Given the description of an element on the screen output the (x, y) to click on. 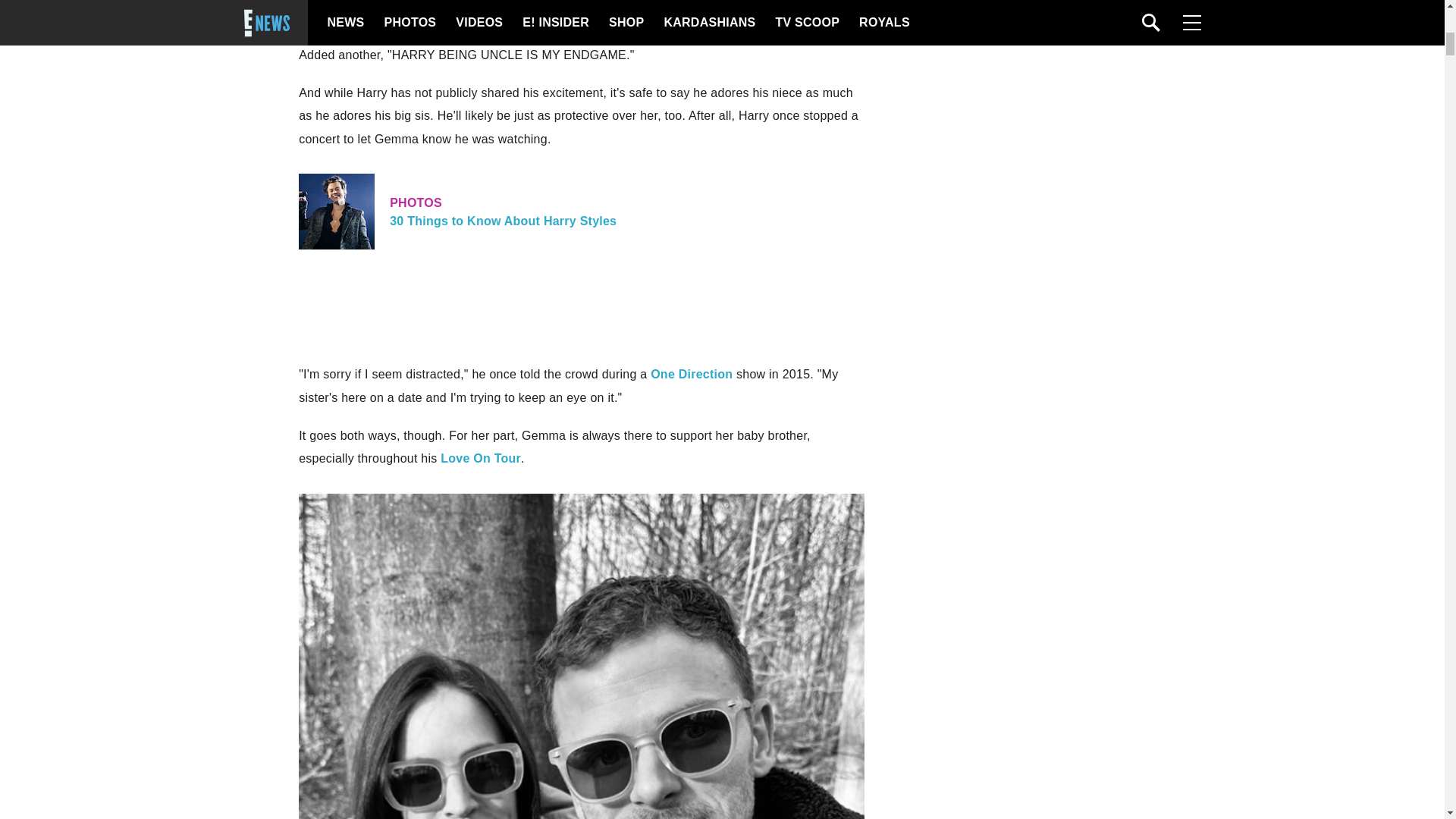
Love On Tour (581, 211)
One Direction (481, 458)
